Given the description of an element on the screen output the (x, y) to click on. 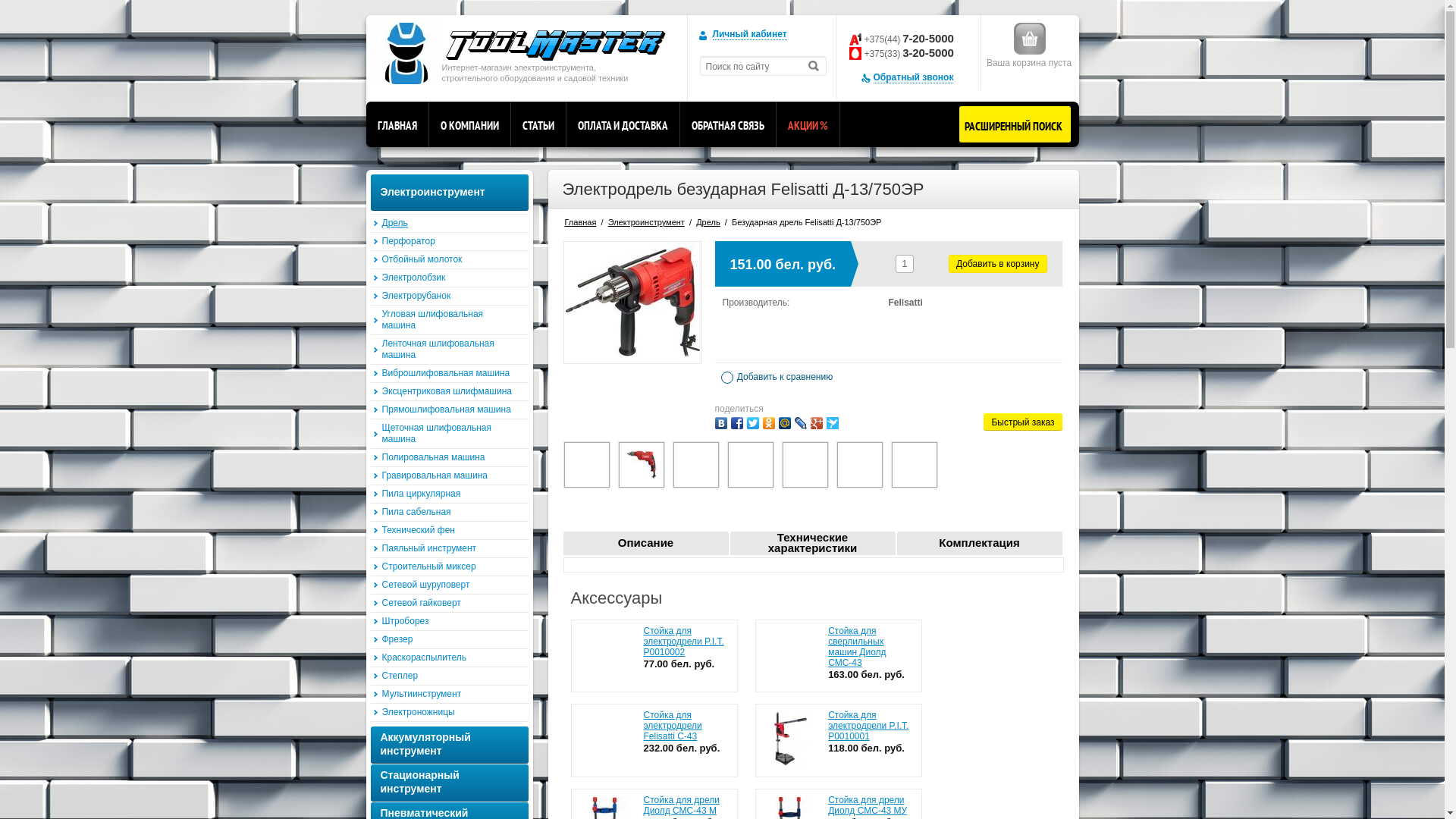
3 Element type: hover (605, 653)
Google Plus Element type: hover (815, 423)
1 Element type: hover (605, 738)
Surfingbird Element type: hover (832, 423)
Facebook Element type: hover (737, 423)
Twitter Element type: hover (752, 423)
LiveJournal Element type: hover (800, 423)
+375(44)7-20-5000 Element type: text (908, 37)
1 Element type: hover (789, 738)
1 Element type: hover (789, 653)
+375(33)3-20-5000 Element type: text (908, 52)
